Given the description of an element on the screen output the (x, y) to click on. 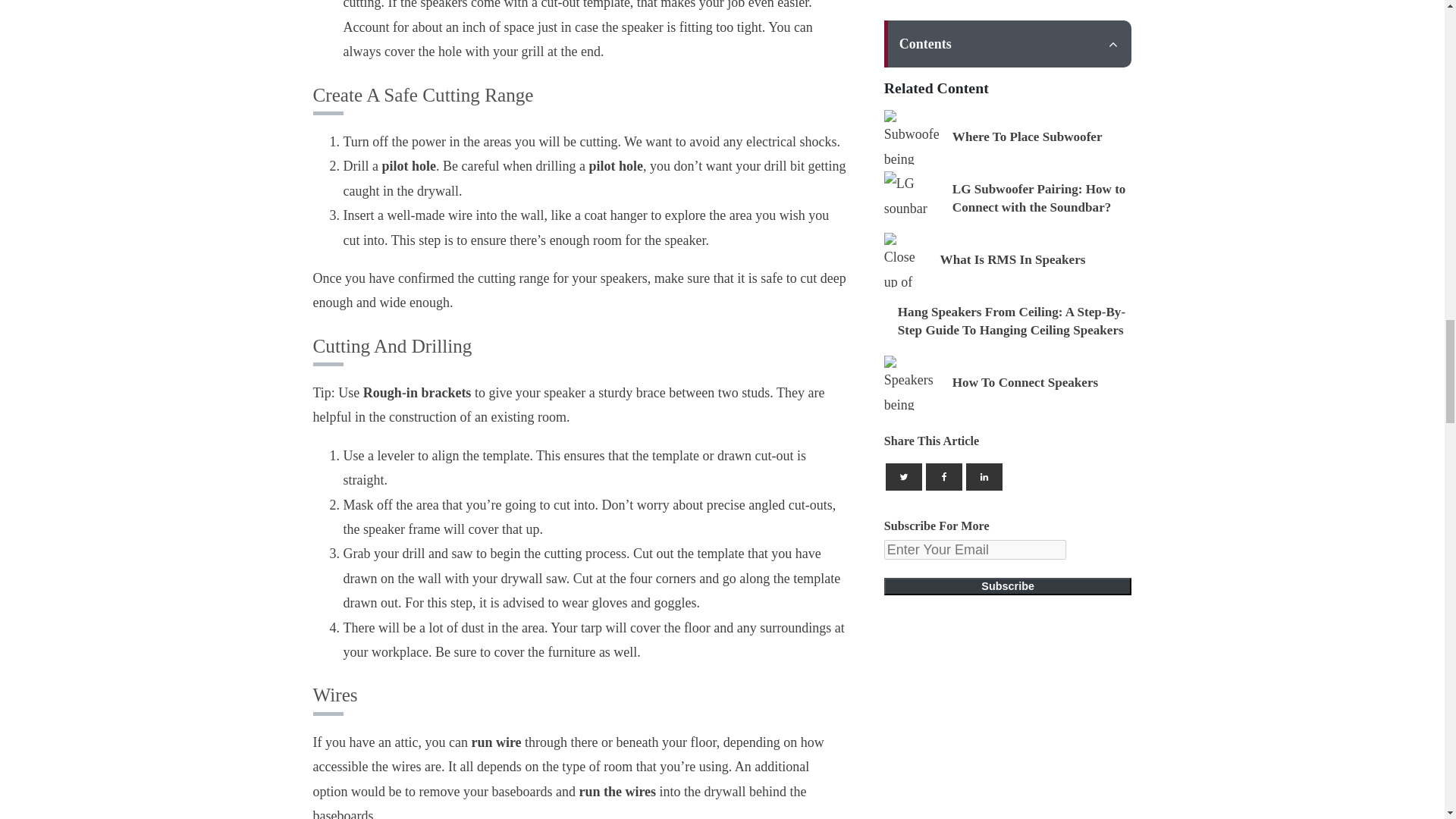
pilot hole (615, 165)
run wire (495, 742)
pilot hole (408, 165)
Rough-in brackets (416, 392)
run the wires  (618, 791)
